Given the description of an element on the screen output the (x, y) to click on. 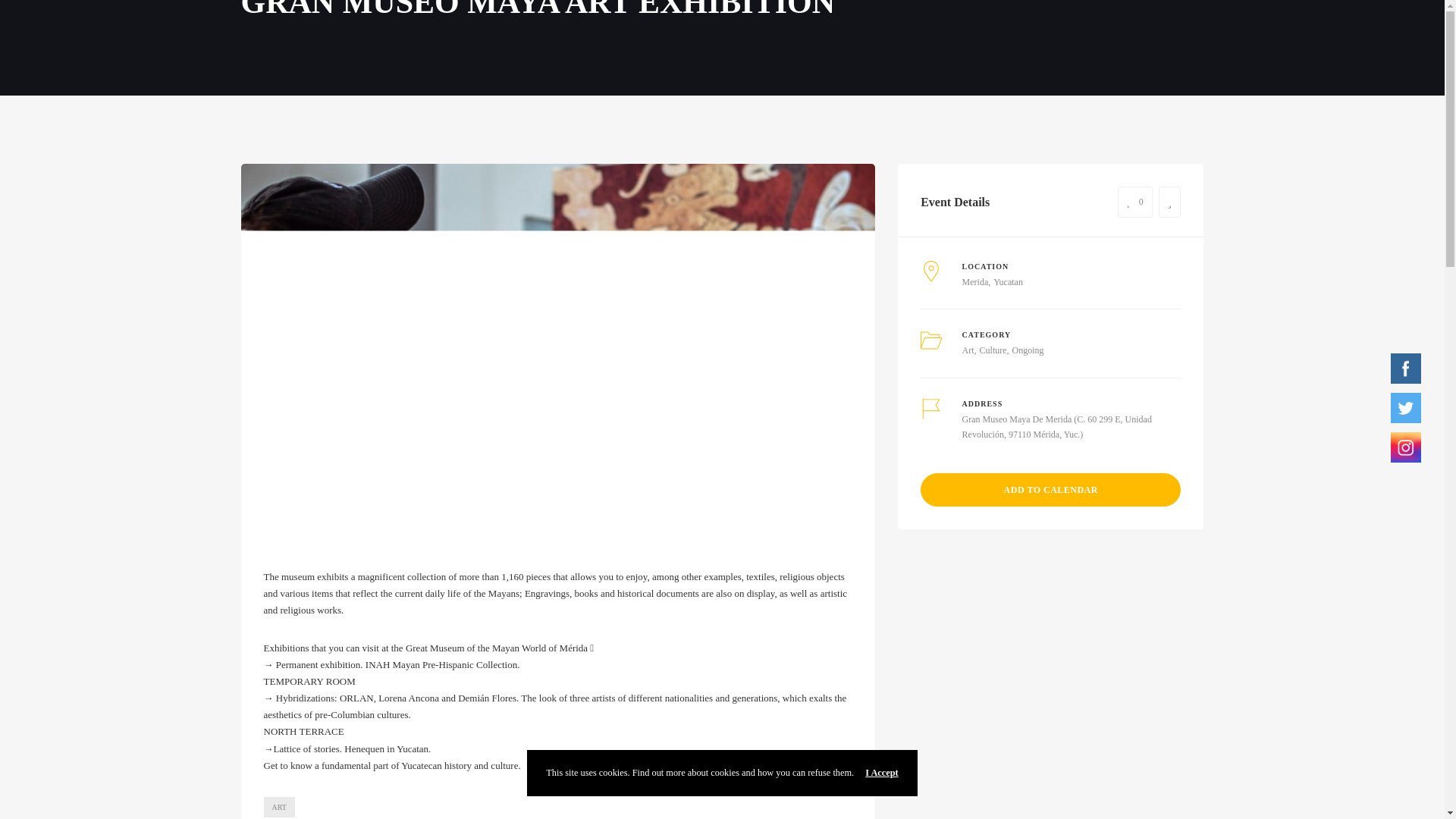
ART (279, 806)
0 (1135, 201)
Instagram (1405, 447)
Facebook (1405, 368)
Twitter (1405, 408)
Merida (975, 281)
